Given the description of an element on the screen output the (x, y) to click on. 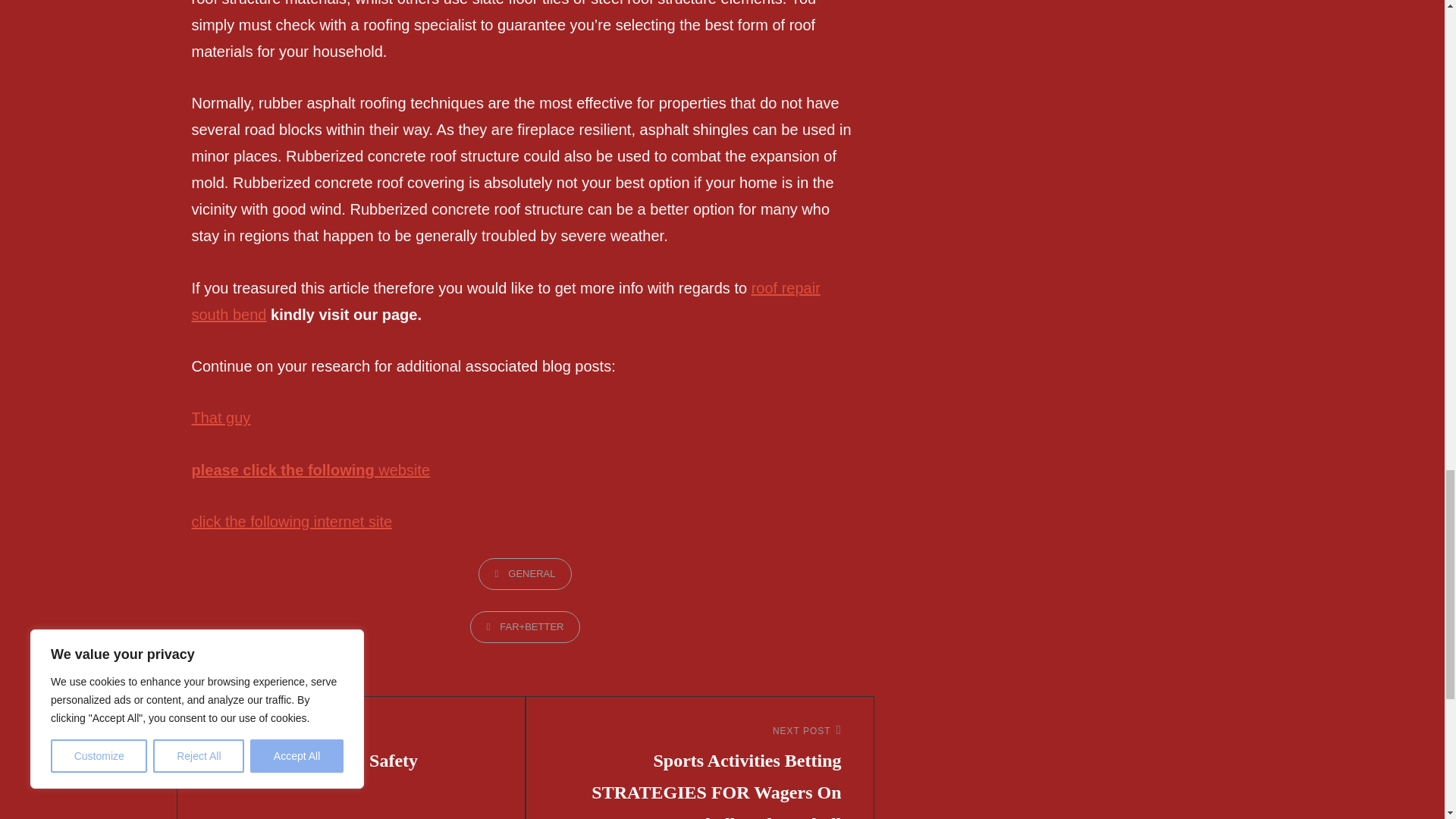
click the following internet site (290, 521)
please click the following website (309, 469)
GENERAL (525, 573)
That guy (351, 749)
roof repair south bend (220, 417)
